Given the description of an element on the screen output the (x, y) to click on. 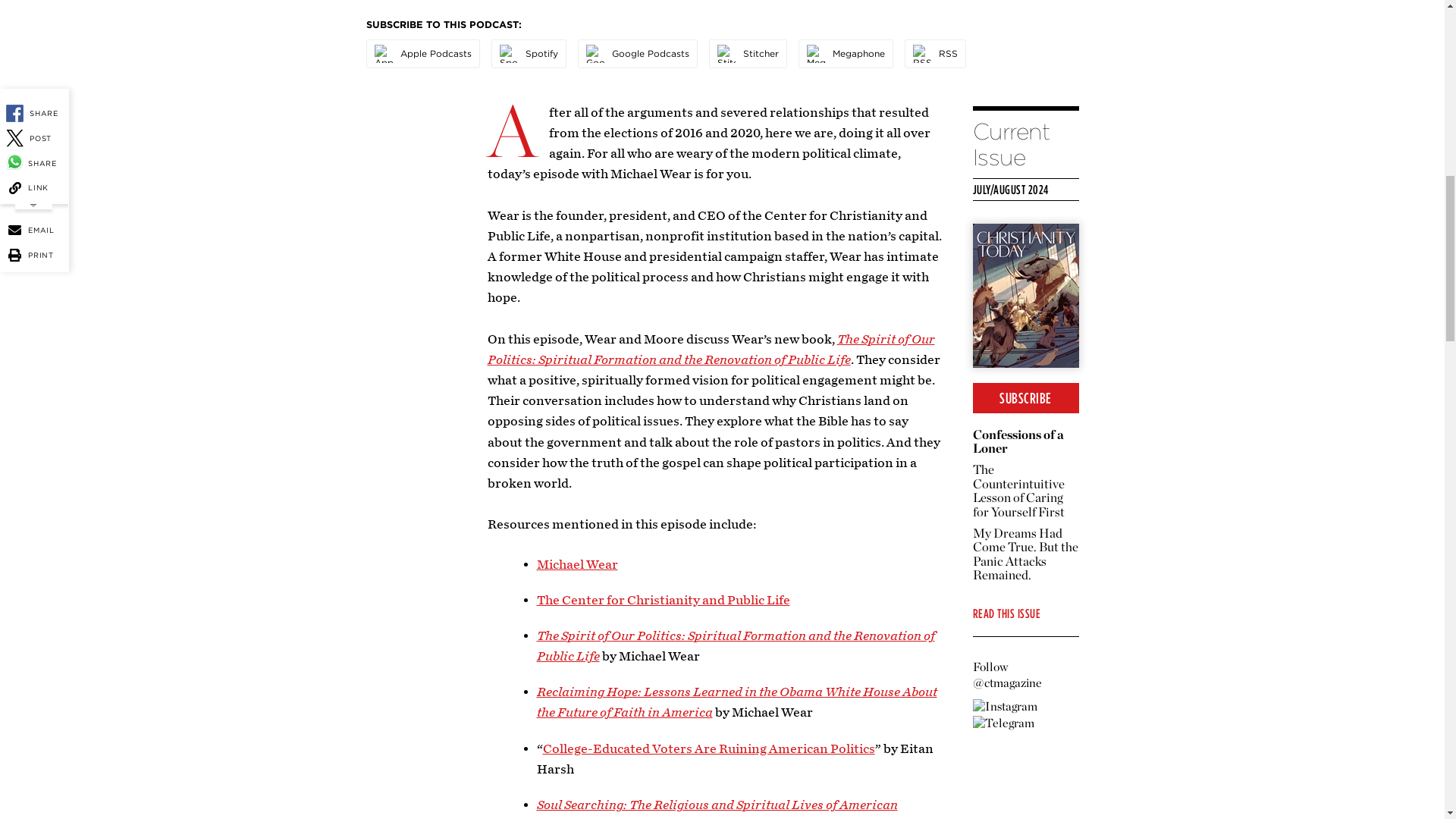
Megaphone (815, 54)
Stitcher (726, 54)
Google Podcasts (594, 54)
Apple Podcasts (383, 54)
Spotify (507, 54)
